Given the description of an element on the screen output the (x, y) to click on. 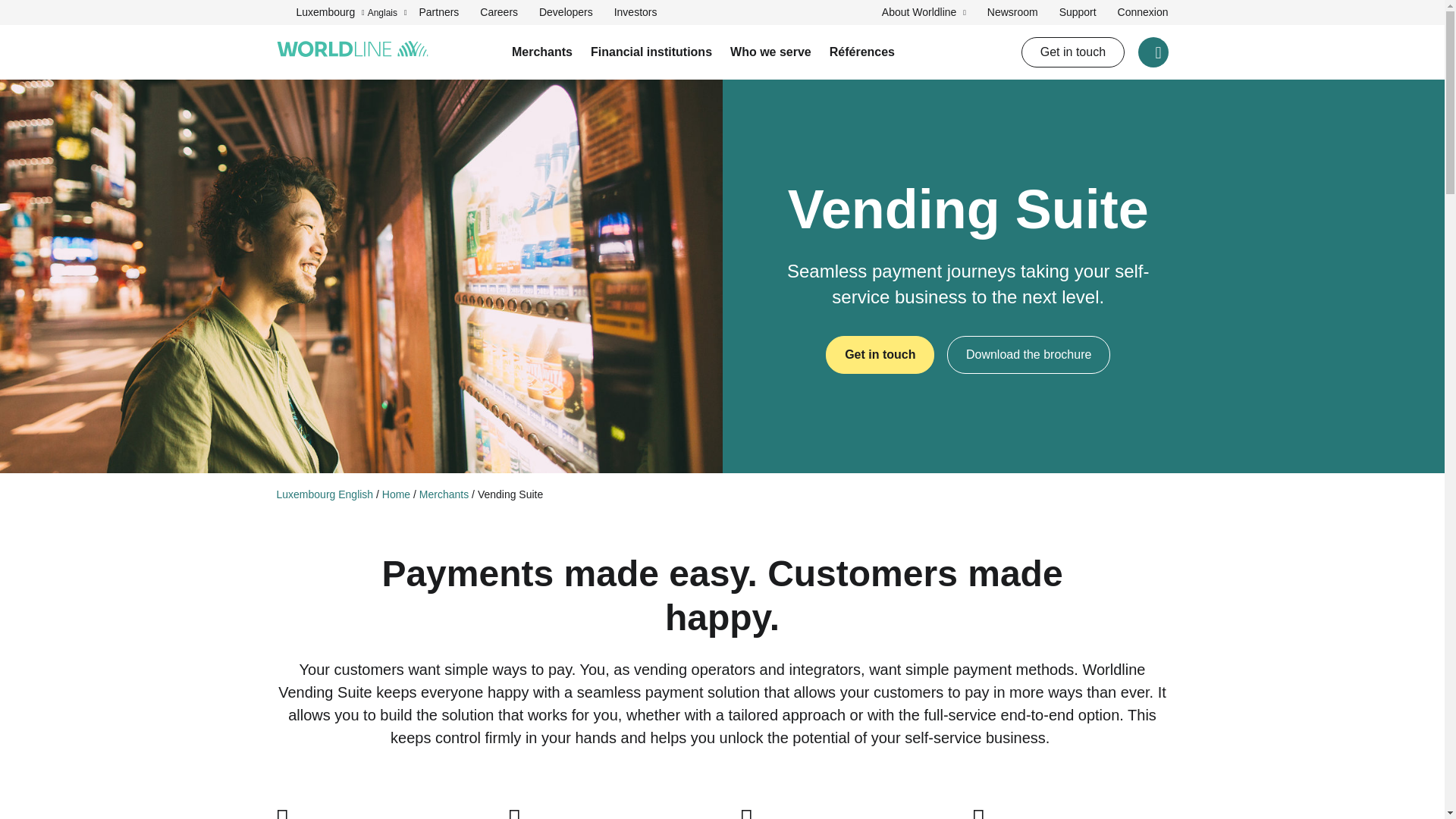
Luxembourg Anglais (341, 12)
